Given the description of an element on the screen output the (x, y) to click on. 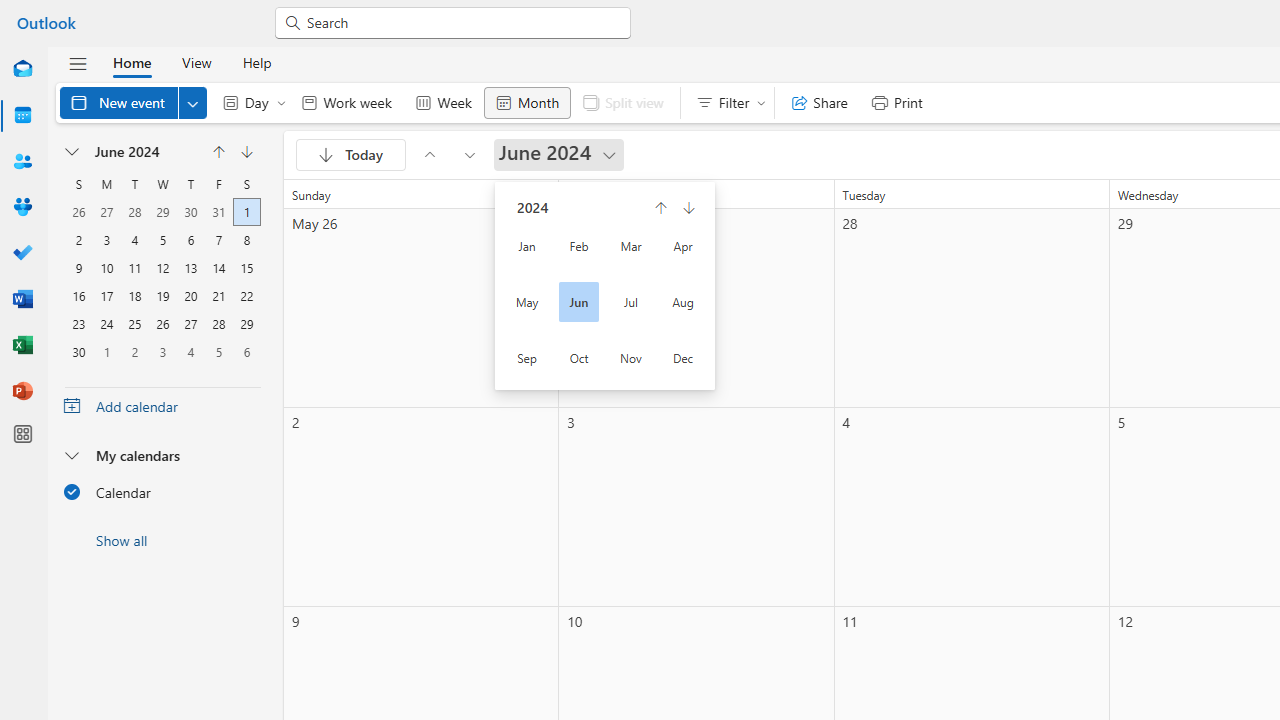
31, May, 2024 (218, 209)
30, May, 2024 (190, 209)
Class: weekRow-466 (163, 350)
5, July, 2024 (218, 350)
6, July, 2024 (246, 350)
20, June, 2024 (191, 294)
Mail (22, 69)
1, June, 2024 (246, 209)
5, July, 2024 (218, 349)
Monday (107, 183)
22, June, 2024 (246, 294)
25, June, 2024 (134, 322)
29, May, 2024 (162, 209)
22, June, 2024 (246, 294)
3, June, 2024 (107, 237)
